Given the description of an element on the screen output the (x, y) to click on. 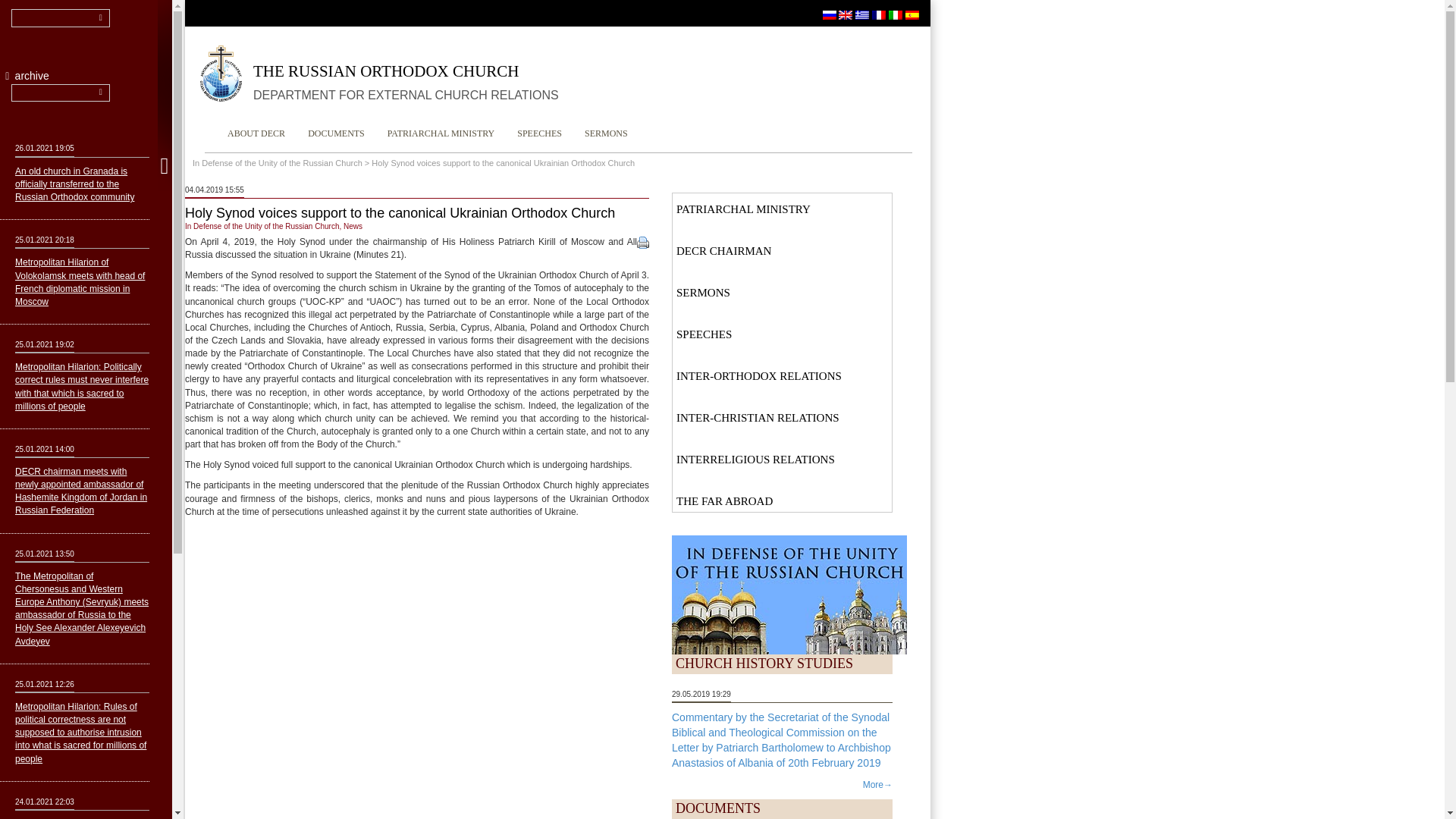
Print This Post (643, 242)
DECR CHAIRMAN (781, 248)
PATRIARCHAL MINISTRY (440, 133)
ABOUT DECR (256, 133)
INTER-ORTHODOX RELATIONS (781, 373)
PATRIARCHAL MINISTRY (781, 206)
SPEECHES (539, 133)
Print This Post (643, 241)
DOCUMENTS (336, 133)
INTER-CHRISTIAN RELATIONS (781, 415)
SERMONS (781, 289)
News (352, 225)
THE FAR ABROAD (781, 498)
SERMONS (606, 133)
